Given the description of an element on the screen output the (x, y) to click on. 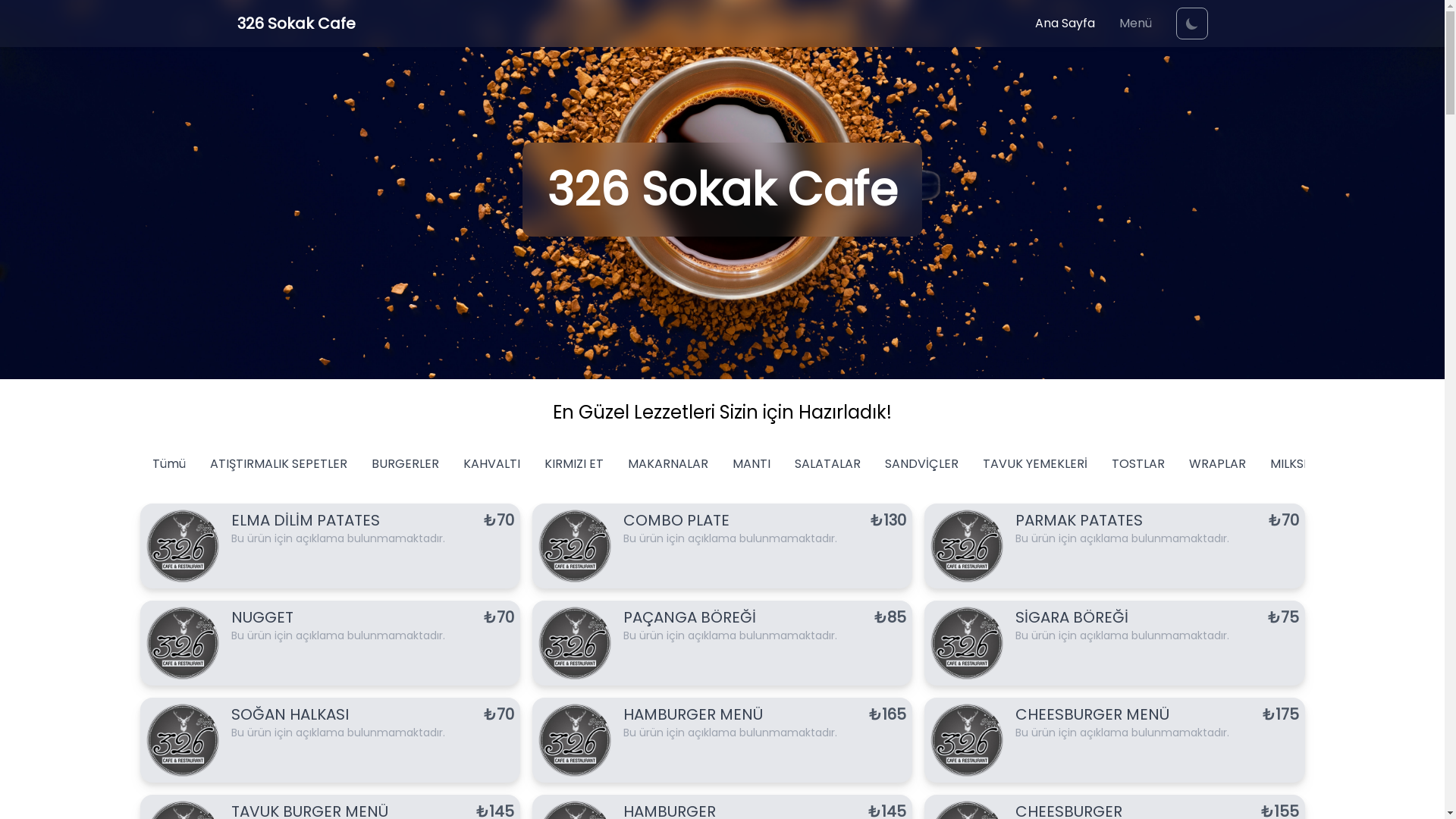
BURGERLER Element type: text (405, 463)
WRAPLAR Element type: text (1217, 463)
KAHVALTI Element type: text (490, 463)
Ana Sayfa Element type: text (1064, 23)
MAKARNALAR Element type: text (667, 463)
SALATALAR Element type: text (827, 463)
TOSTLAR Element type: text (1137, 463)
KIRMIZI ET Element type: text (573, 463)
MANTI Element type: text (751, 463)
326 Sokak Cafe Element type: text (295, 23)
MILKSHAKELER Element type: text (1311, 463)
